Given the description of an element on the screen output the (x, y) to click on. 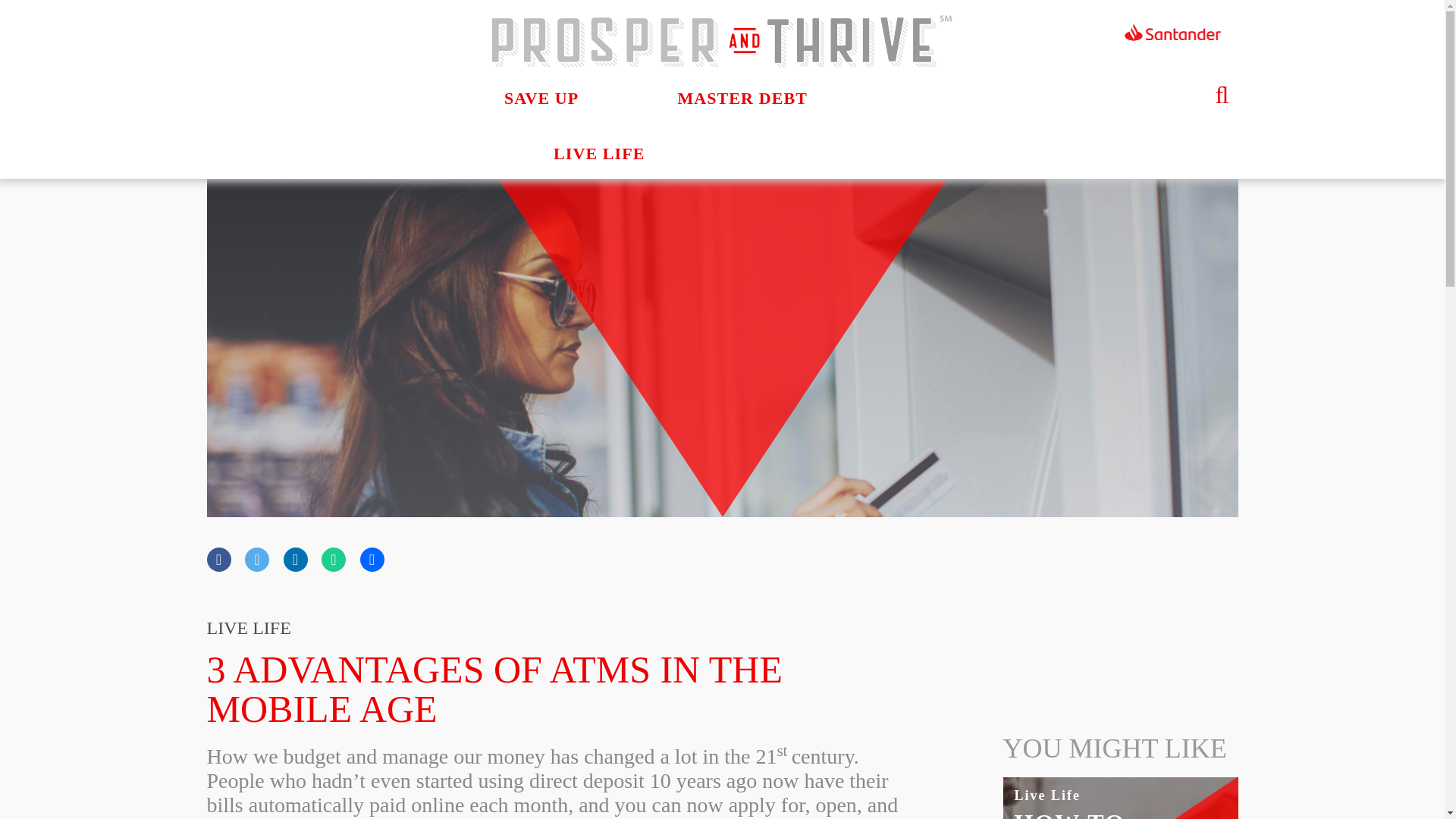
Man paying with credit card (1120, 744)
Live Life (1047, 795)
SAVE UP (540, 98)
LIVE LIFE (599, 153)
SMS (333, 559)
Email (371, 559)
MASTER DEBT (742, 98)
